Given the description of an element on the screen output the (x, y) to click on. 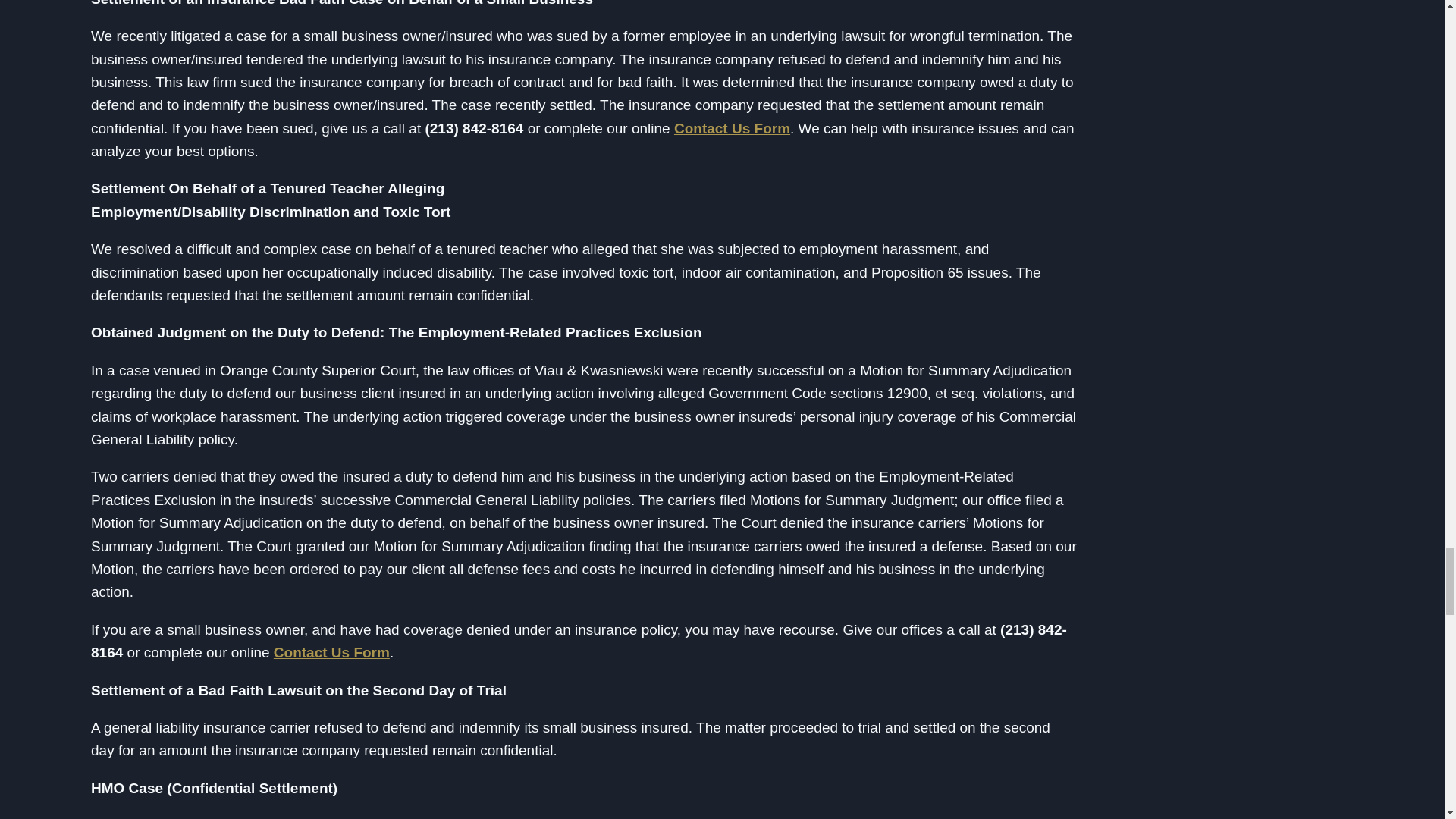
Contact Us Form (331, 652)
Contact Us Form (732, 128)
